Given the description of an element on the screen output the (x, y) to click on. 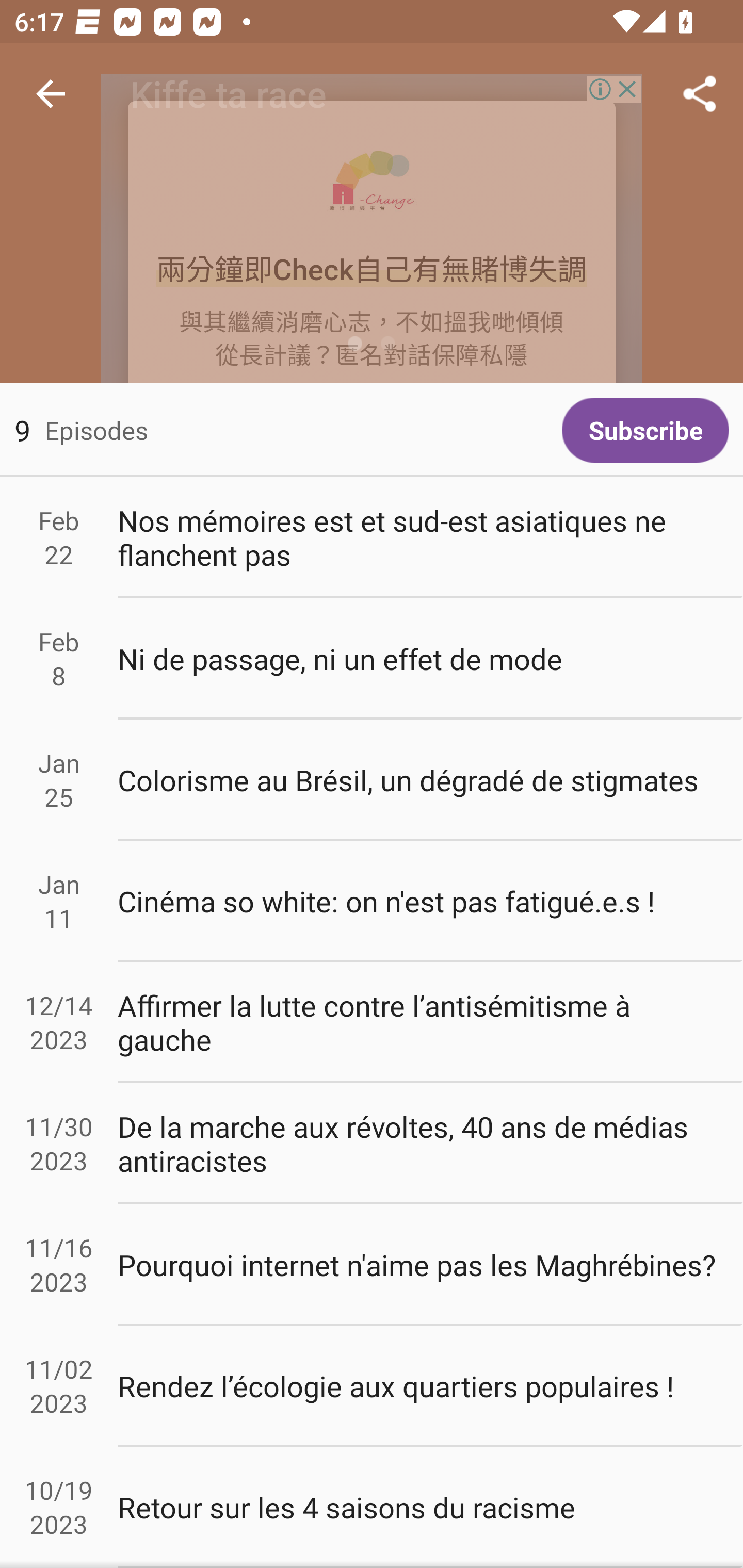
Navigate up (50, 93)
Share... (699, 93)
Subscribe (644, 430)
Feb 8 Ni de passage, ni un effet de mode (371, 658)
Jan 11 Cinéma so white: on n'est pas fatigué.e.s ! (371, 900)
10/19 2023 Retour sur les 4 saisons du racisme (371, 1507)
